Given the description of an element on the screen output the (x, y) to click on. 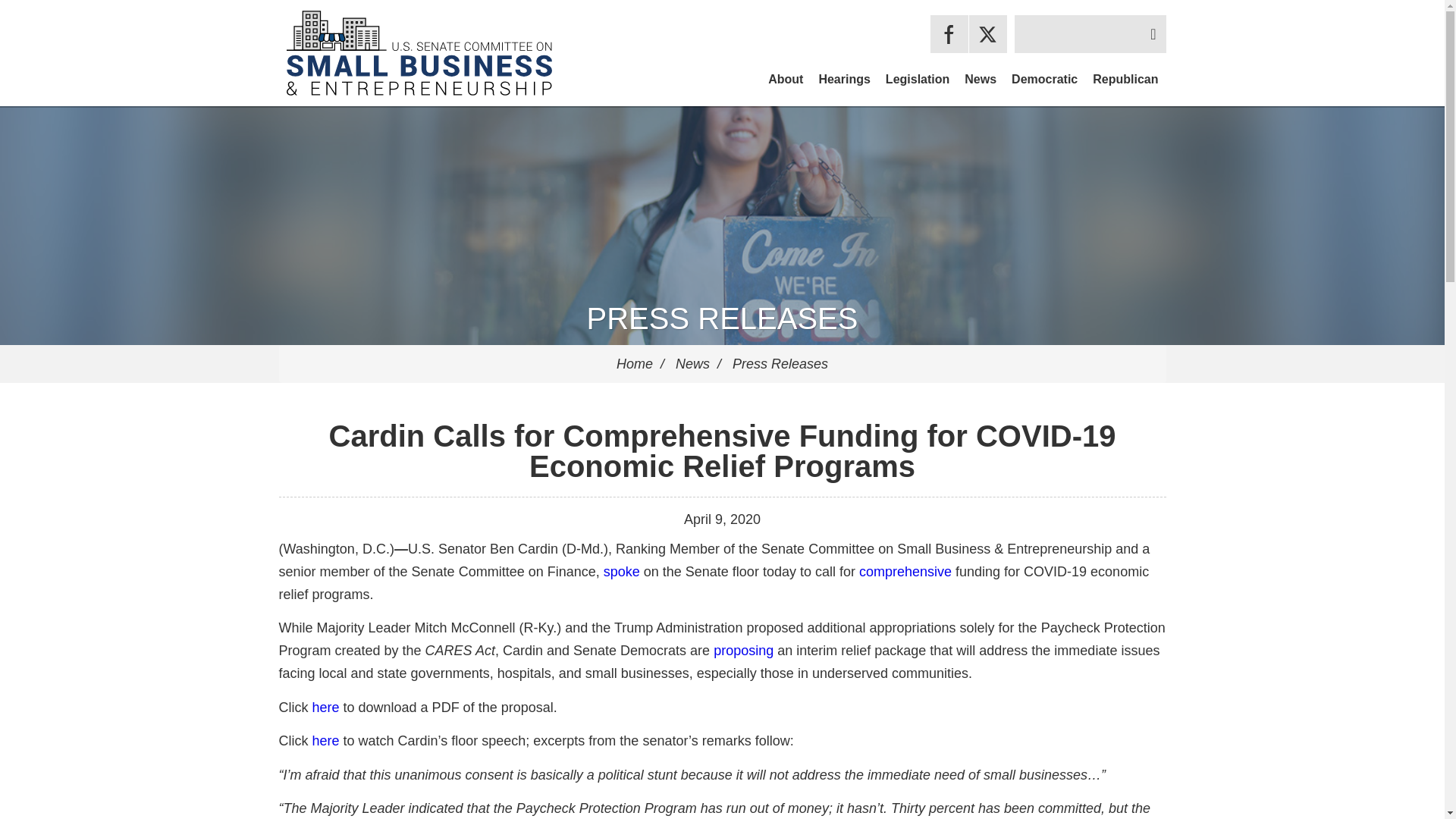
Facebook (949, 34)
Democratic (1044, 79)
News (980, 79)
Home (633, 363)
About (785, 79)
PRESS RELEASES (722, 318)
Legislation (916, 79)
Twitter (988, 34)
Hearings (843, 79)
Republican (1125, 79)
